Given the description of an element on the screen output the (x, y) to click on. 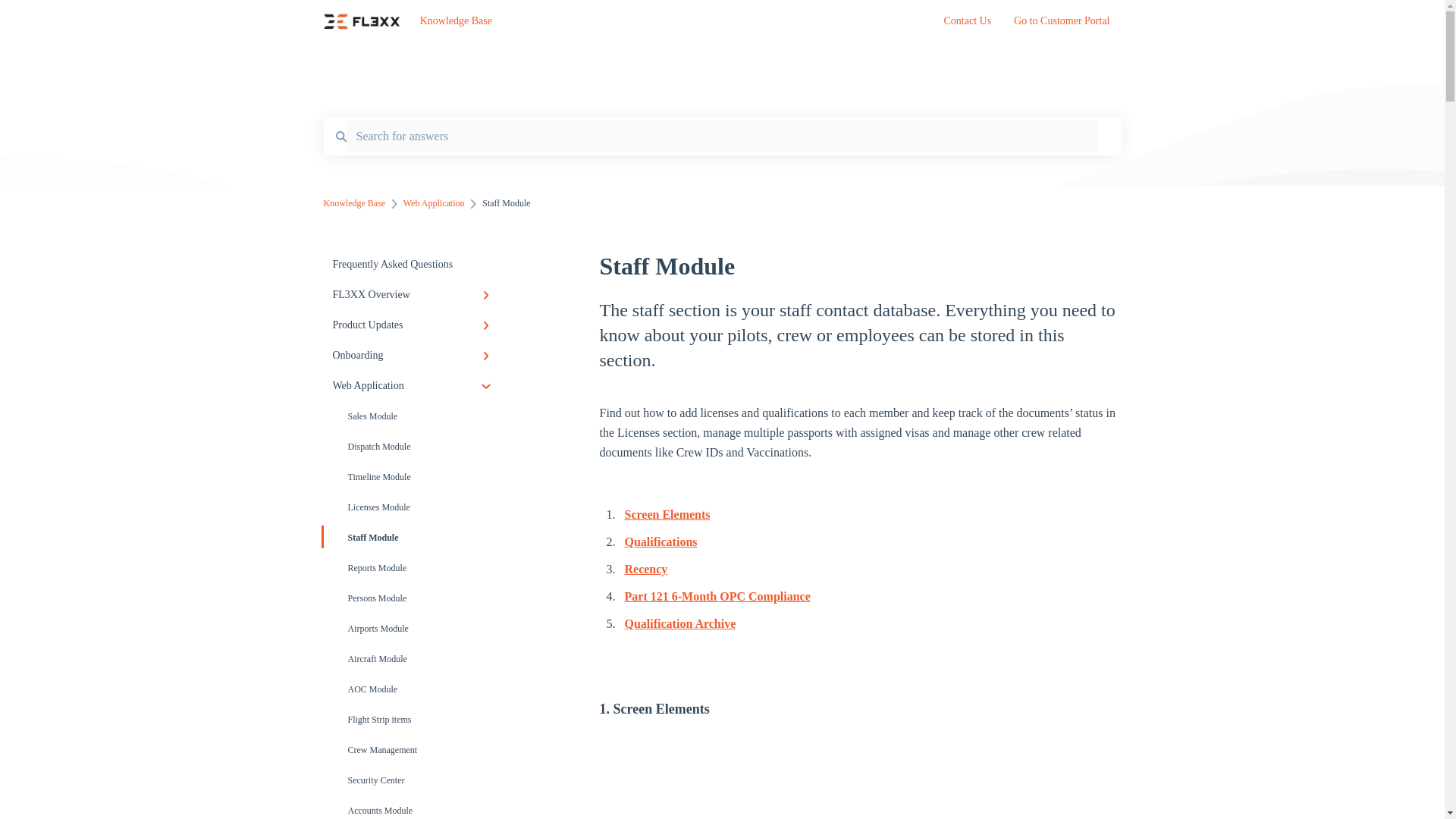
Go to Customer Portal (1061, 25)
Knowledge Base (659, 21)
Contact Us (967, 25)
